Given the description of an element on the screen output the (x, y) to click on. 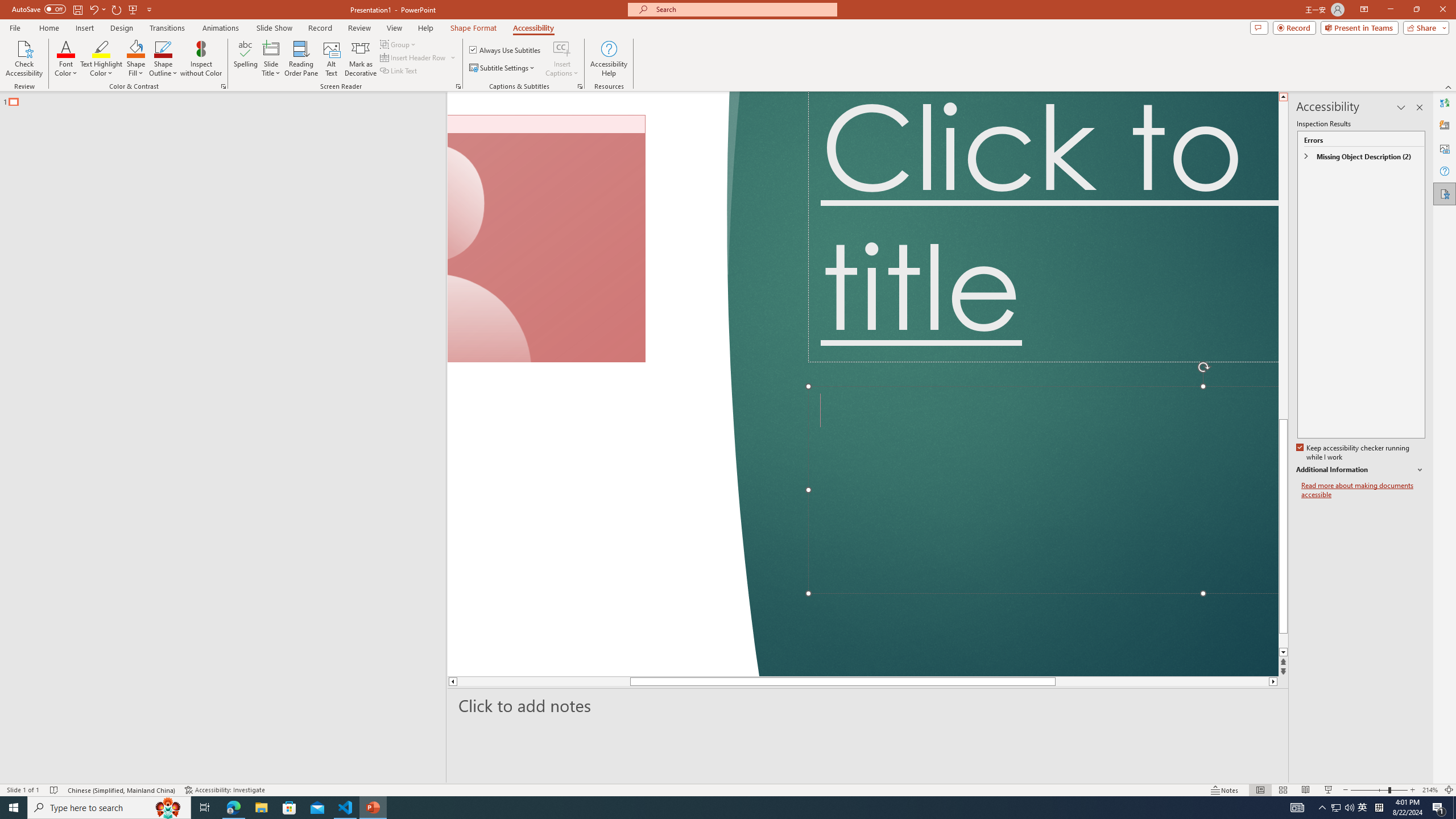
Translator (1444, 102)
